Given the description of an element on the screen output the (x, y) to click on. 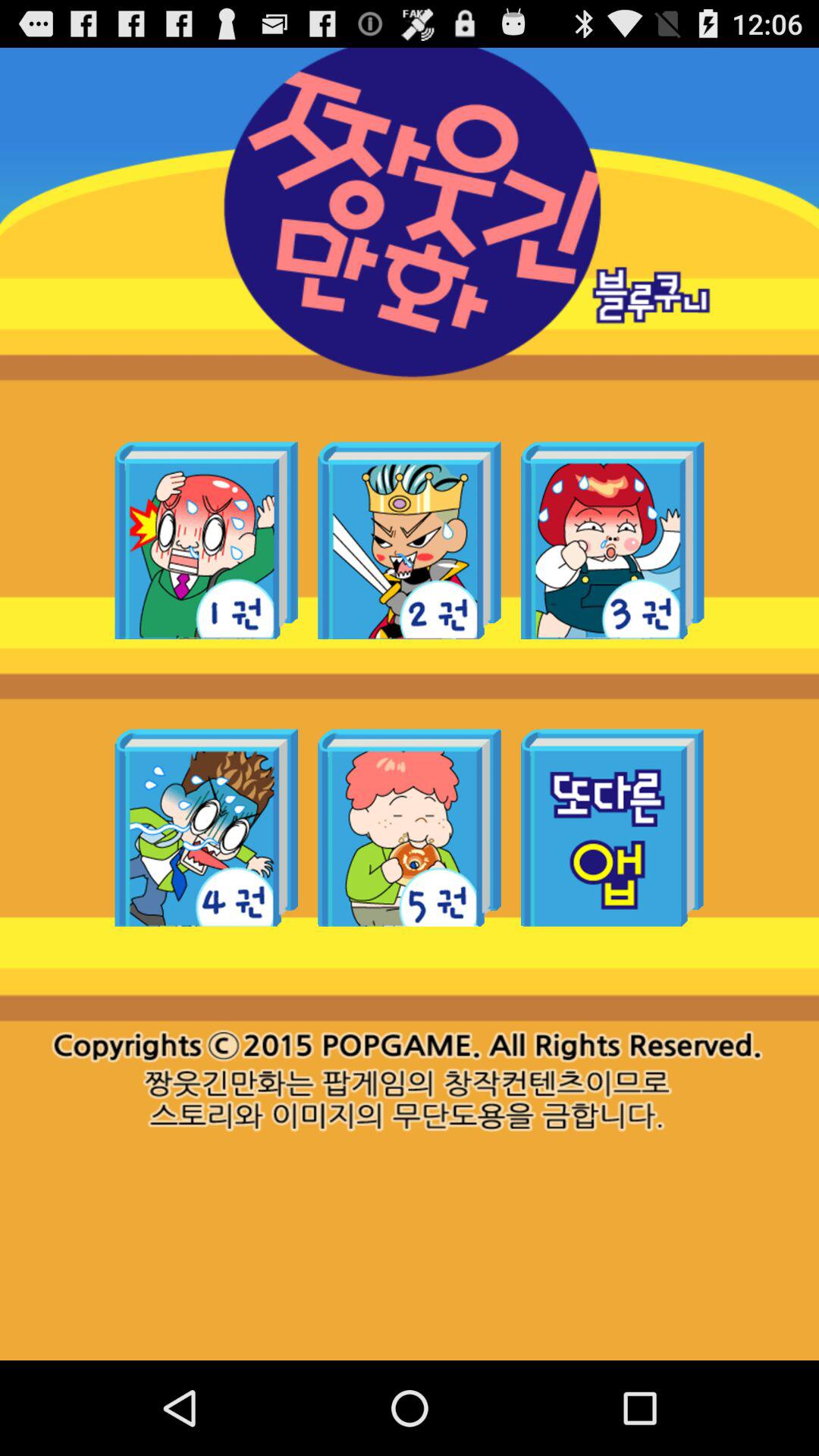
select option (612, 540)
